Given the description of an element on the screen output the (x, y) to click on. 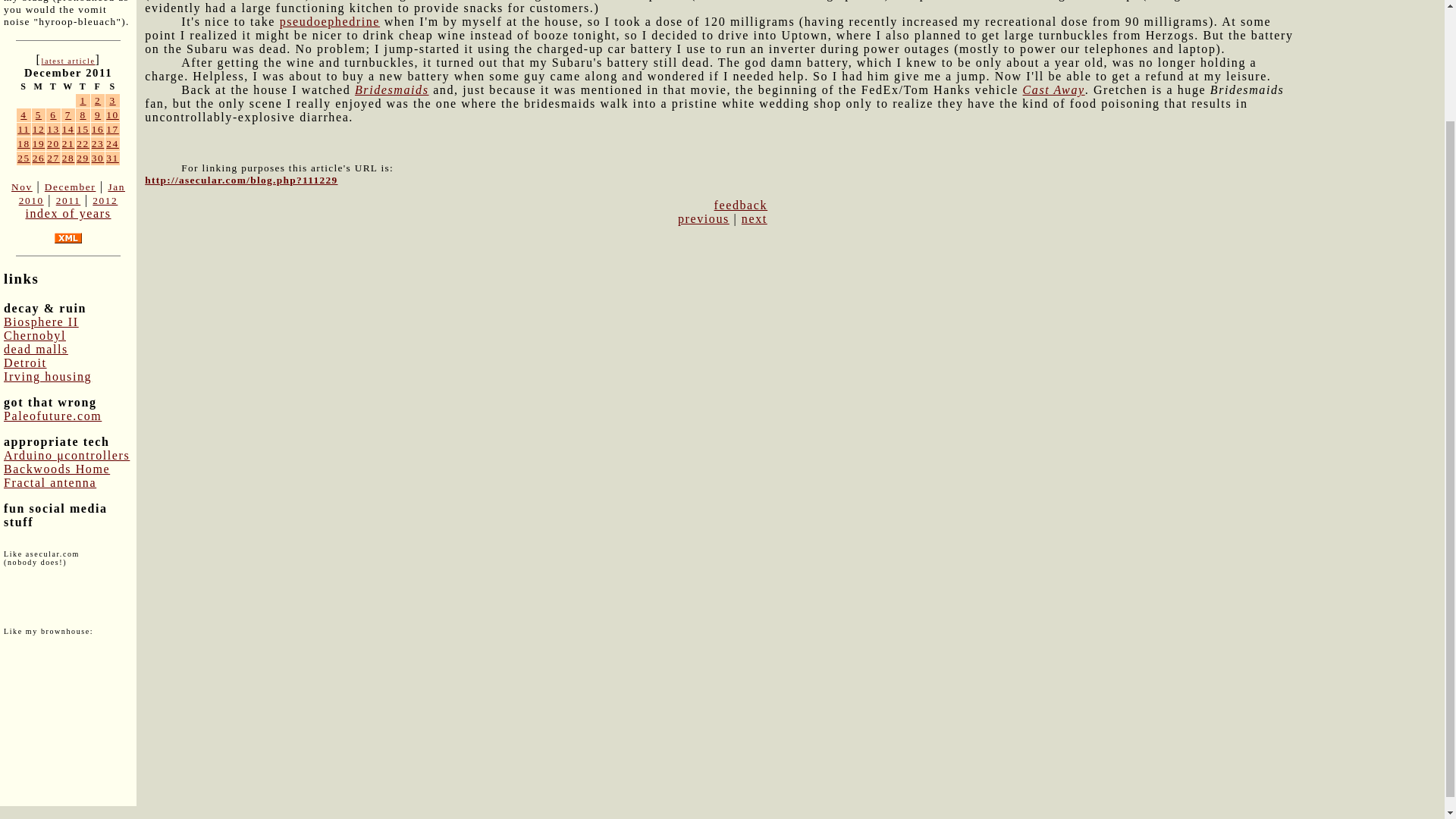
24 (112, 143)
14 (68, 129)
2011 (68, 200)
17 (112, 129)
13 (52, 129)
18 (23, 143)
Jan (116, 186)
index of years (67, 213)
2012 (105, 200)
30 (97, 157)
